Given the description of an element on the screen output the (x, y) to click on. 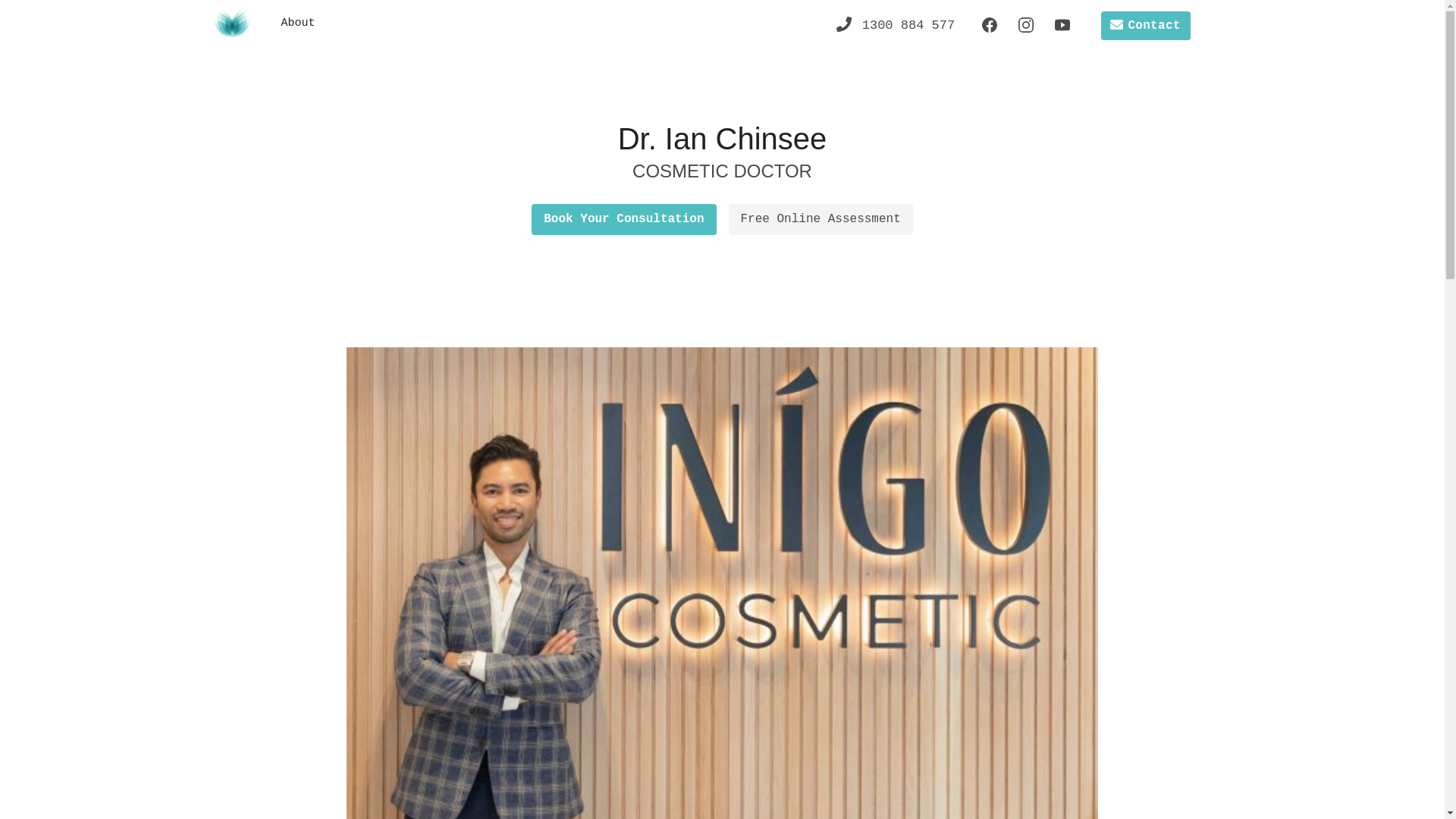
Dr Chinsee Element type: hover (231, 22)
Book Your Consultation Element type: text (623, 219)
1300 884 577 Element type: text (897, 24)
Free Online Assessment Element type: text (820, 219)
Dr Chinsee Element type: hover (231, 22)
Contact Element type: text (1145, 25)
About Element type: text (297, 23)
